Given the description of an element on the screen output the (x, y) to click on. 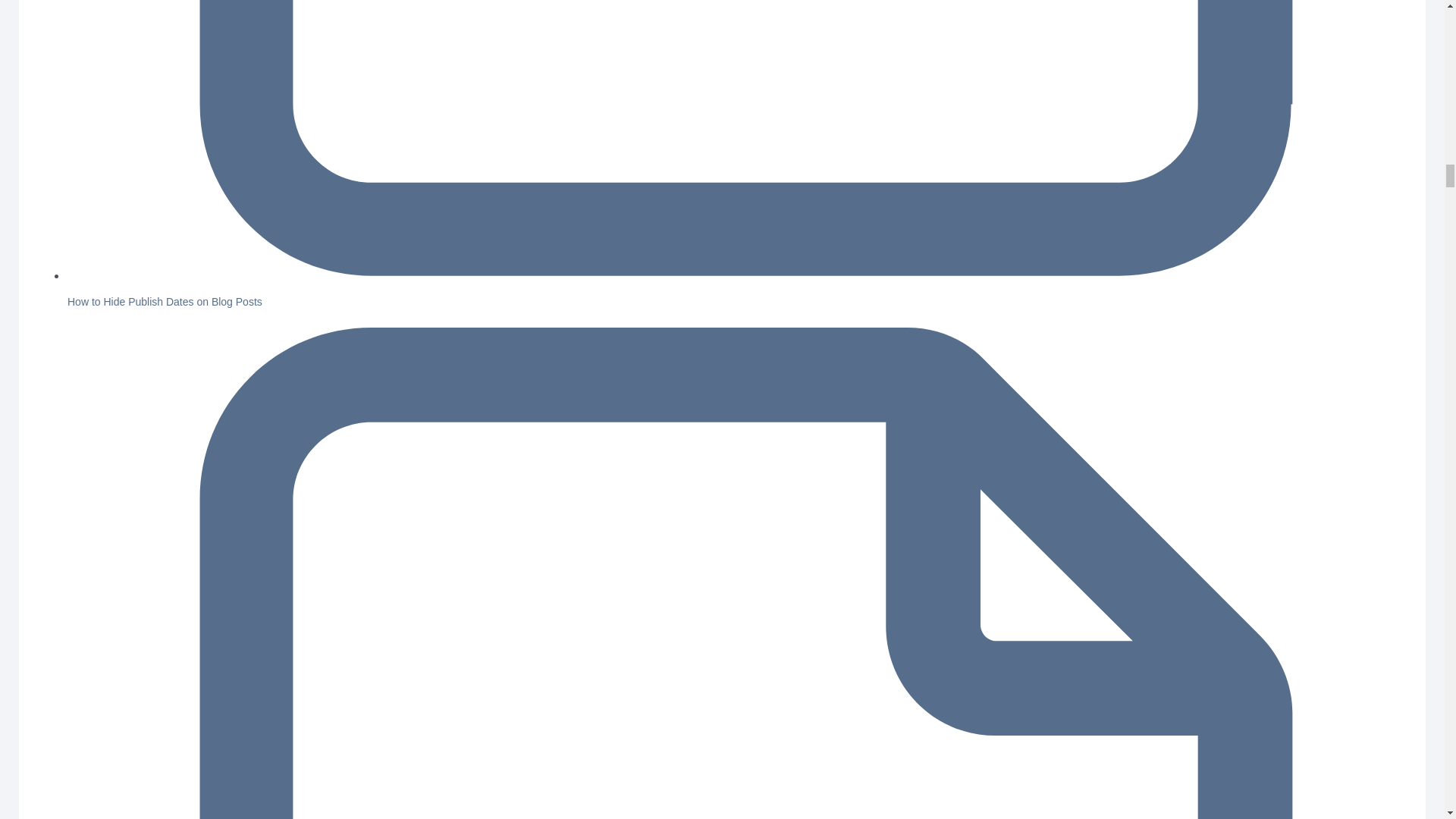
How to Hide Publish Dates on Blog Posts (164, 301)
